Given the description of an element on the screen output the (x, y) to click on. 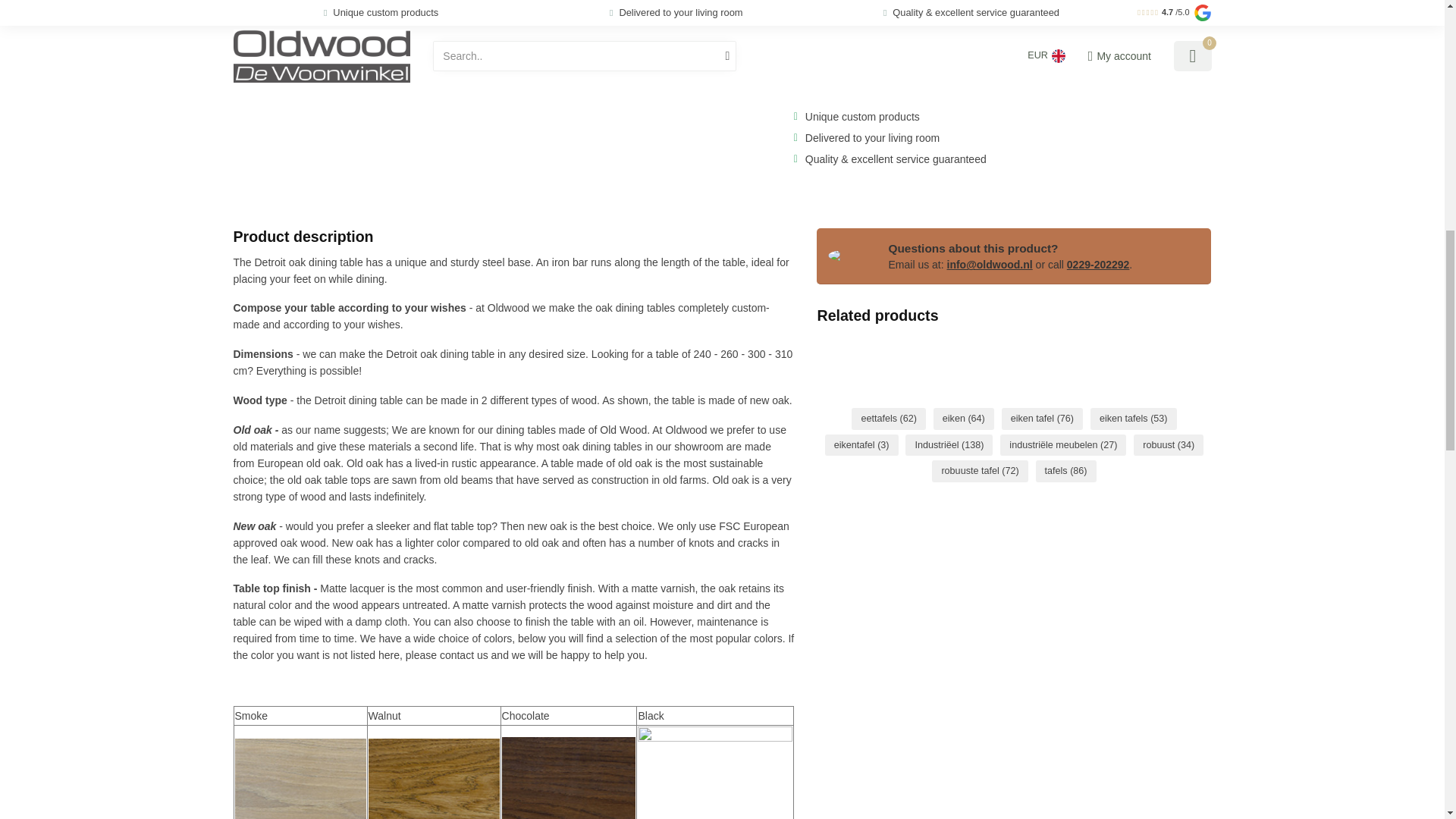
eiken (963, 418)
eiken tafel (1042, 418)
eiken tafels (1133, 418)
1 (820, 10)
robuust (1169, 445)
robuuste tafel (979, 471)
eikentafel (861, 445)
eettafels (888, 418)
tafels (1065, 471)
